Given the description of an element on the screen output the (x, y) to click on. 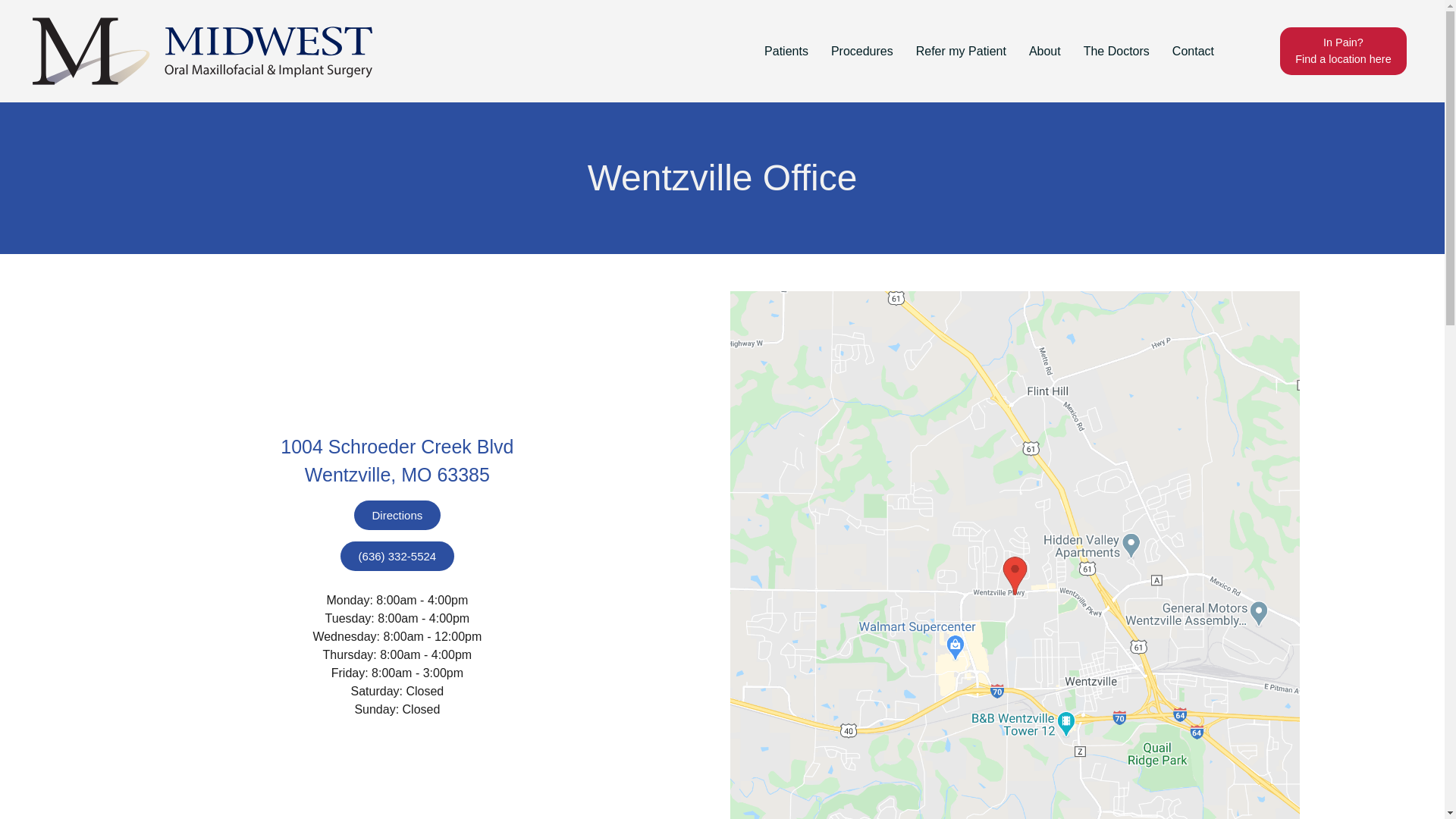
Patients (785, 51)
Refer my Patient (960, 51)
The Doctors (1115, 51)
About (1044, 51)
Procedures (861, 51)
